Given the description of an element on the screen output the (x, y) to click on. 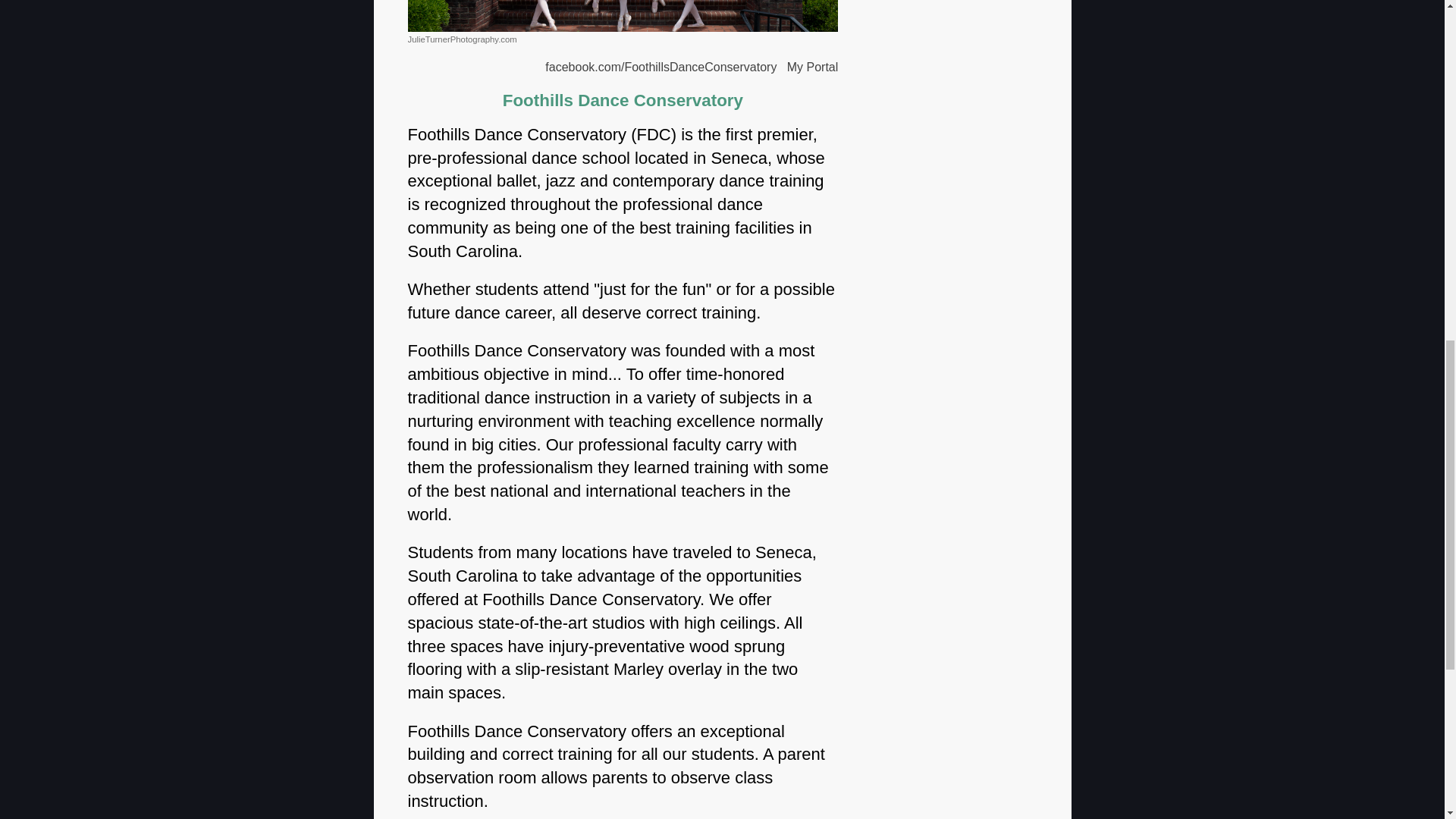
My Portal (812, 66)
Like us on Facebook! (660, 66)
JulieTurnerPhotography.com (622, 22)
Open the Parent Portal (812, 66)
